Given the description of an element on the screen output the (x, y) to click on. 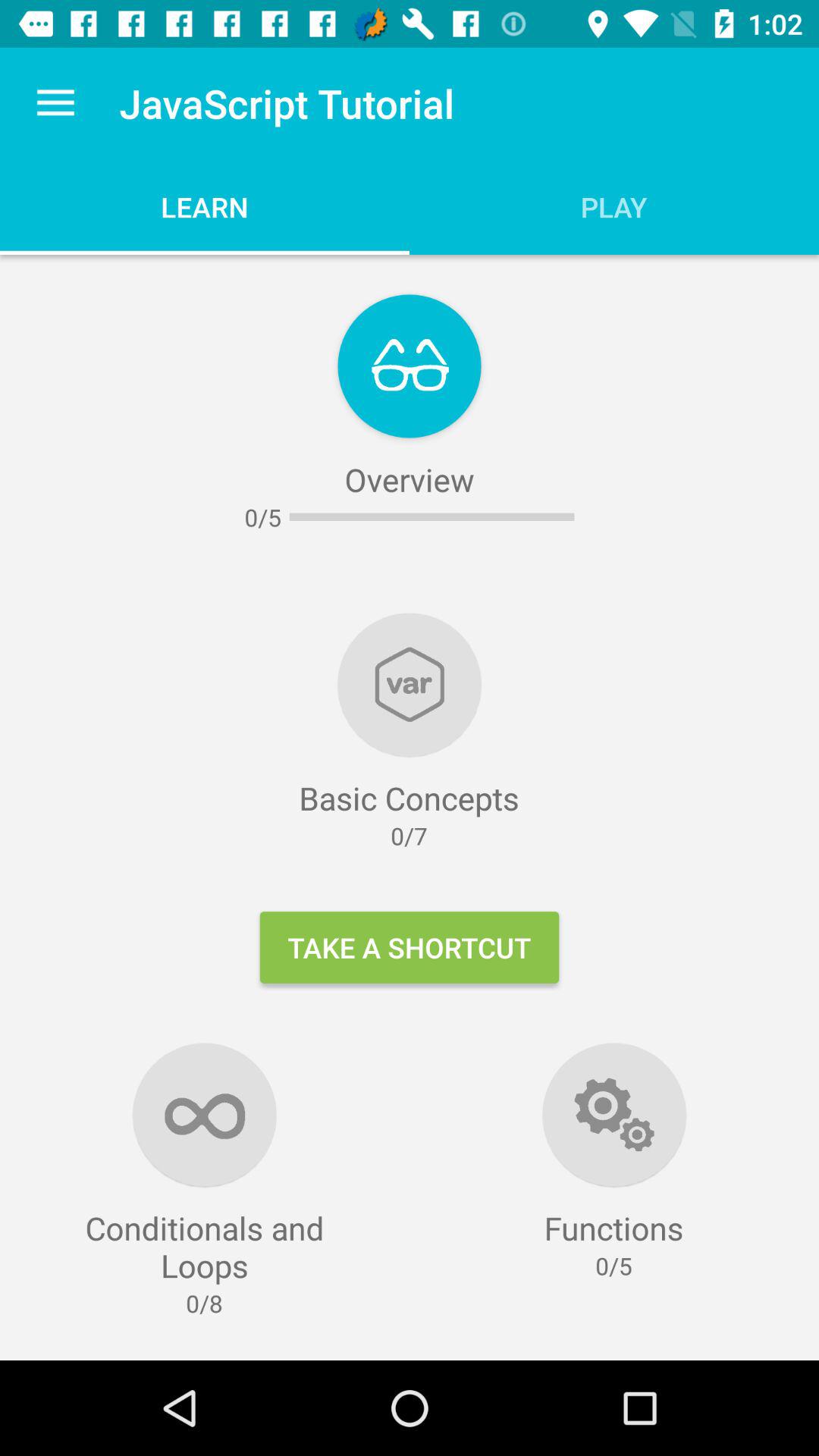
turn off the icon to the left of javascript tutorial item (55, 103)
